Given the description of an element on the screen output the (x, y) to click on. 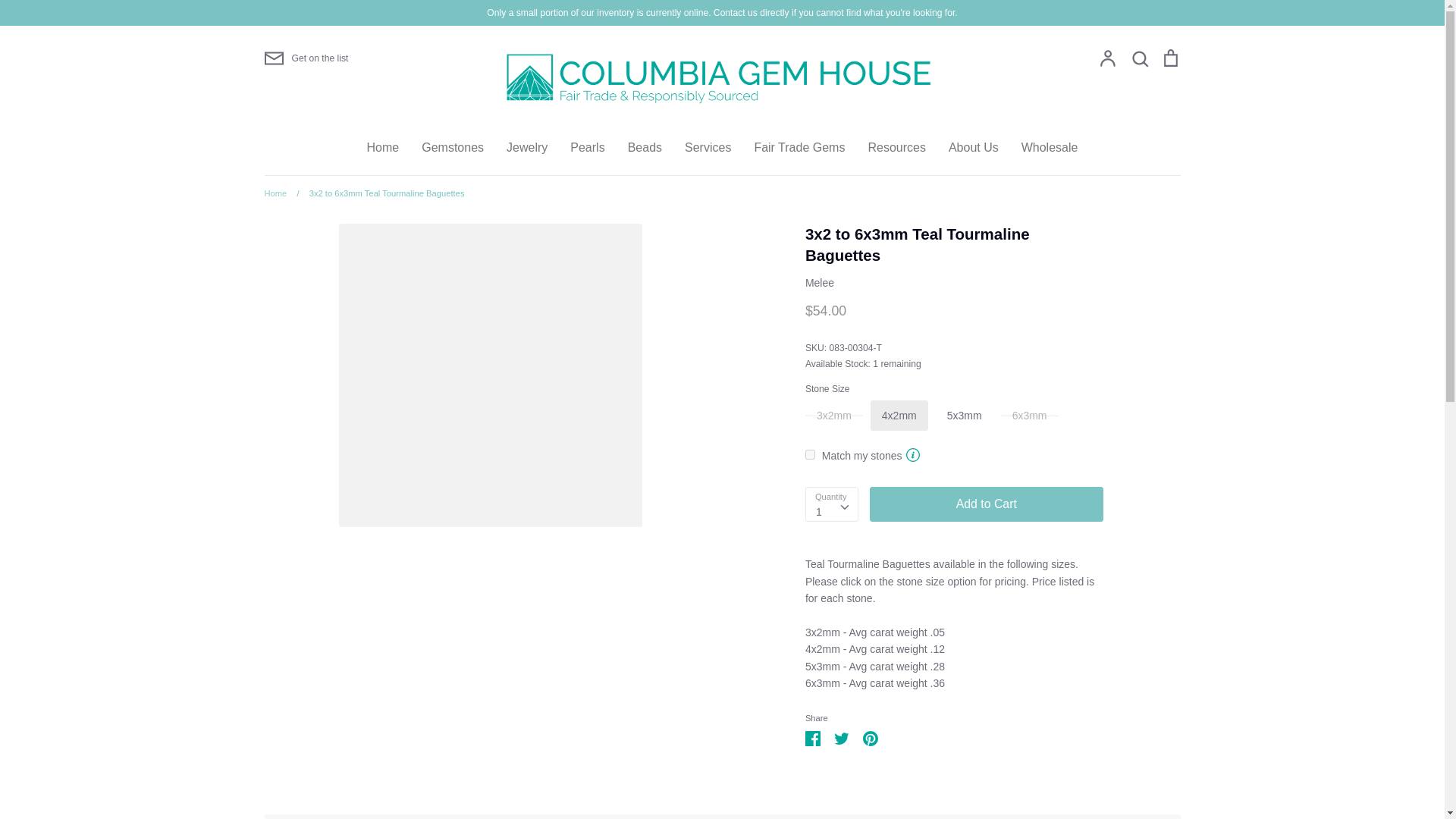
Account (1107, 57)
on (810, 454)
Get on the list (305, 57)
Gemstones (452, 146)
1 (831, 504)
Jewelry (526, 146)
Home (382, 146)
Cart (1169, 57)
Search (1139, 57)
